Given the description of an element on the screen output the (x, y) to click on. 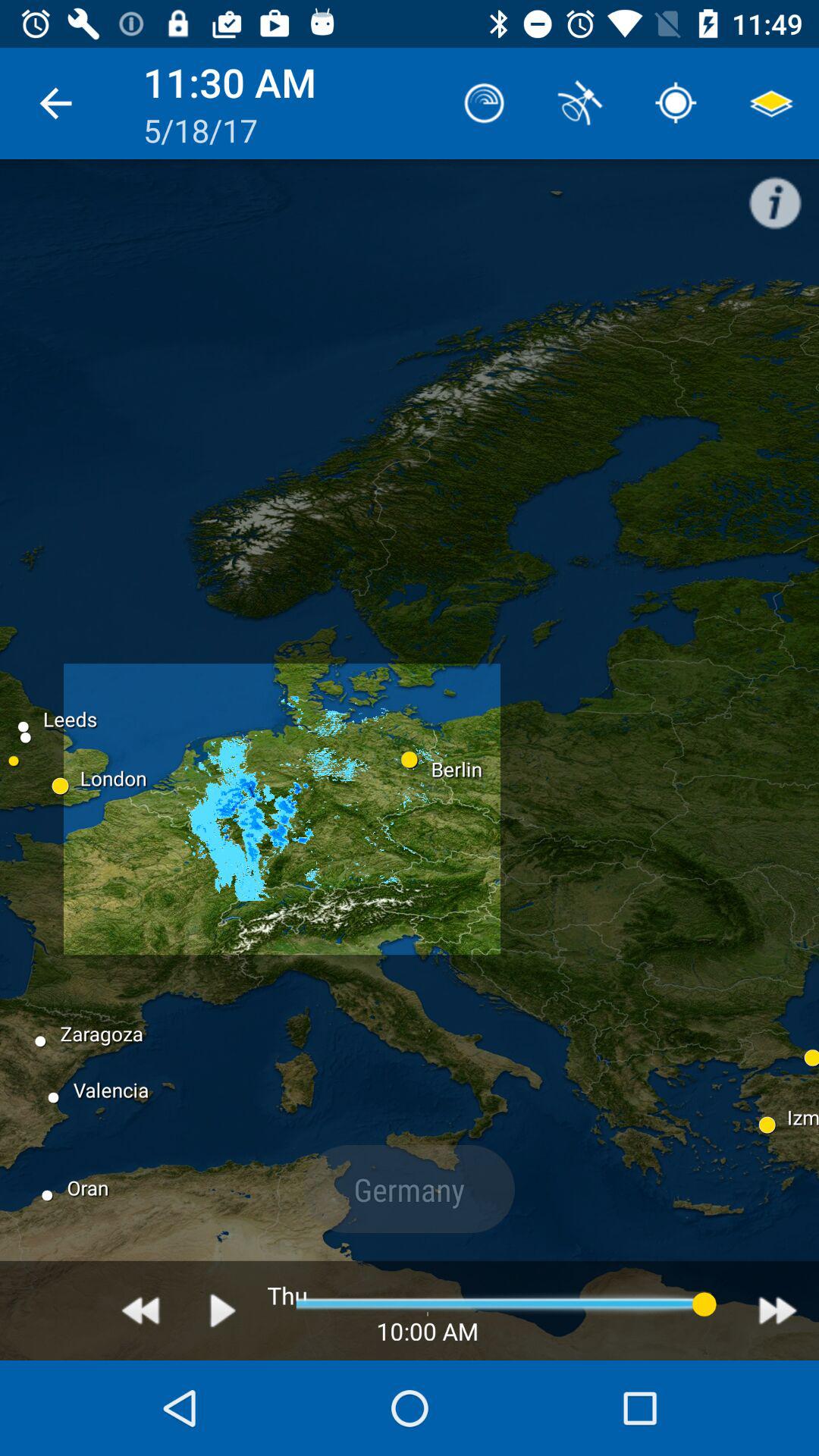
rewind or go back option (140, 1310)
